Given the description of an element on the screen output the (x, y) to click on. 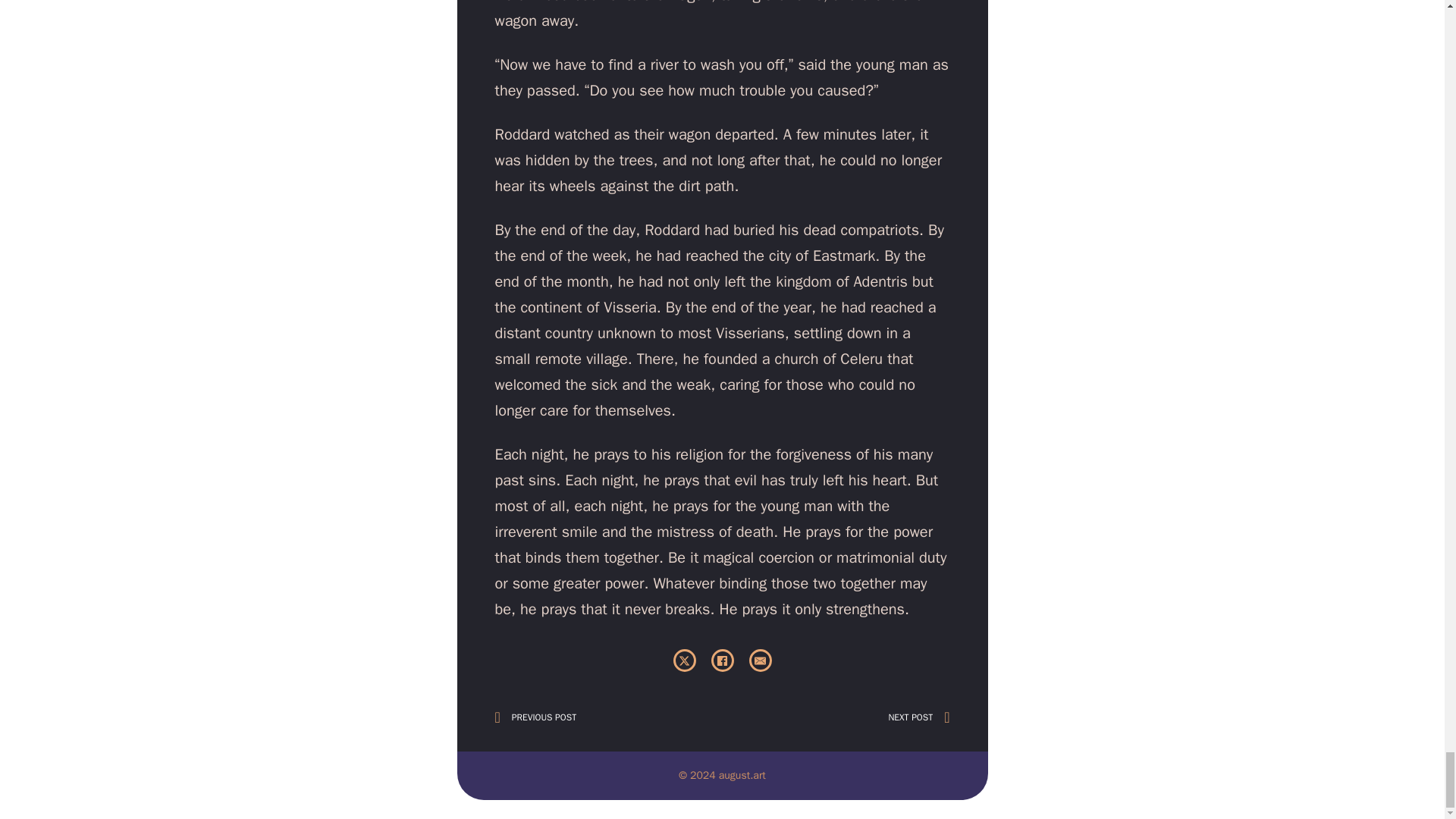
NEXT POST (873, 717)
PREVIOUS POST (570, 717)
